Given the description of an element on the screen output the (x, y) to click on. 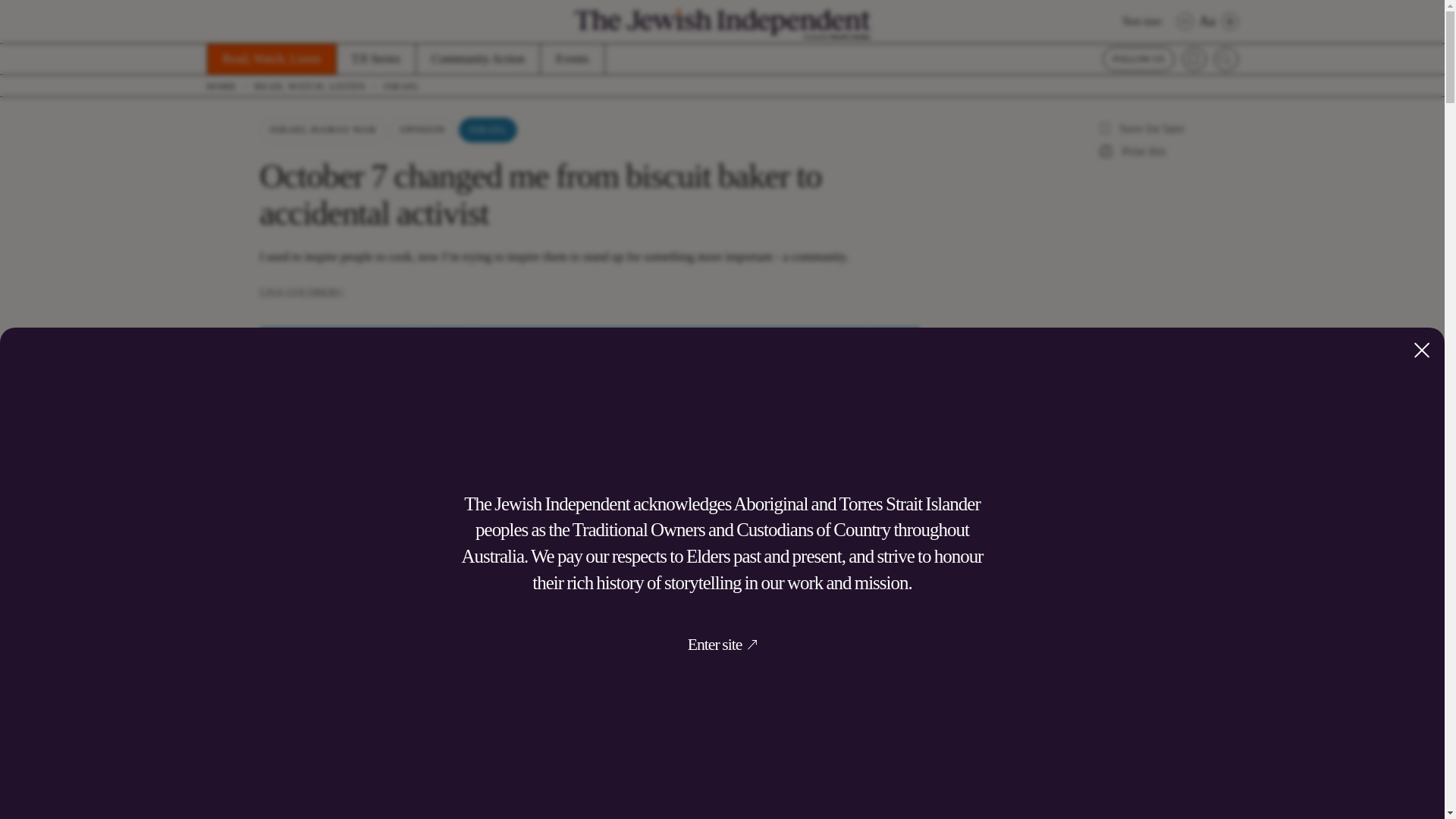
Save for later (1139, 128)
Increase text size (1229, 21)
Read, Watch, Listen (270, 59)
TJI Series (375, 59)
savedArticles (1192, 58)
Community Action (477, 59)
READ, WATCH, LISTEN (319, 85)
socials (1137, 58)
OPINION (422, 129)
HOME (229, 85)
